Given the description of an element on the screen output the (x, y) to click on. 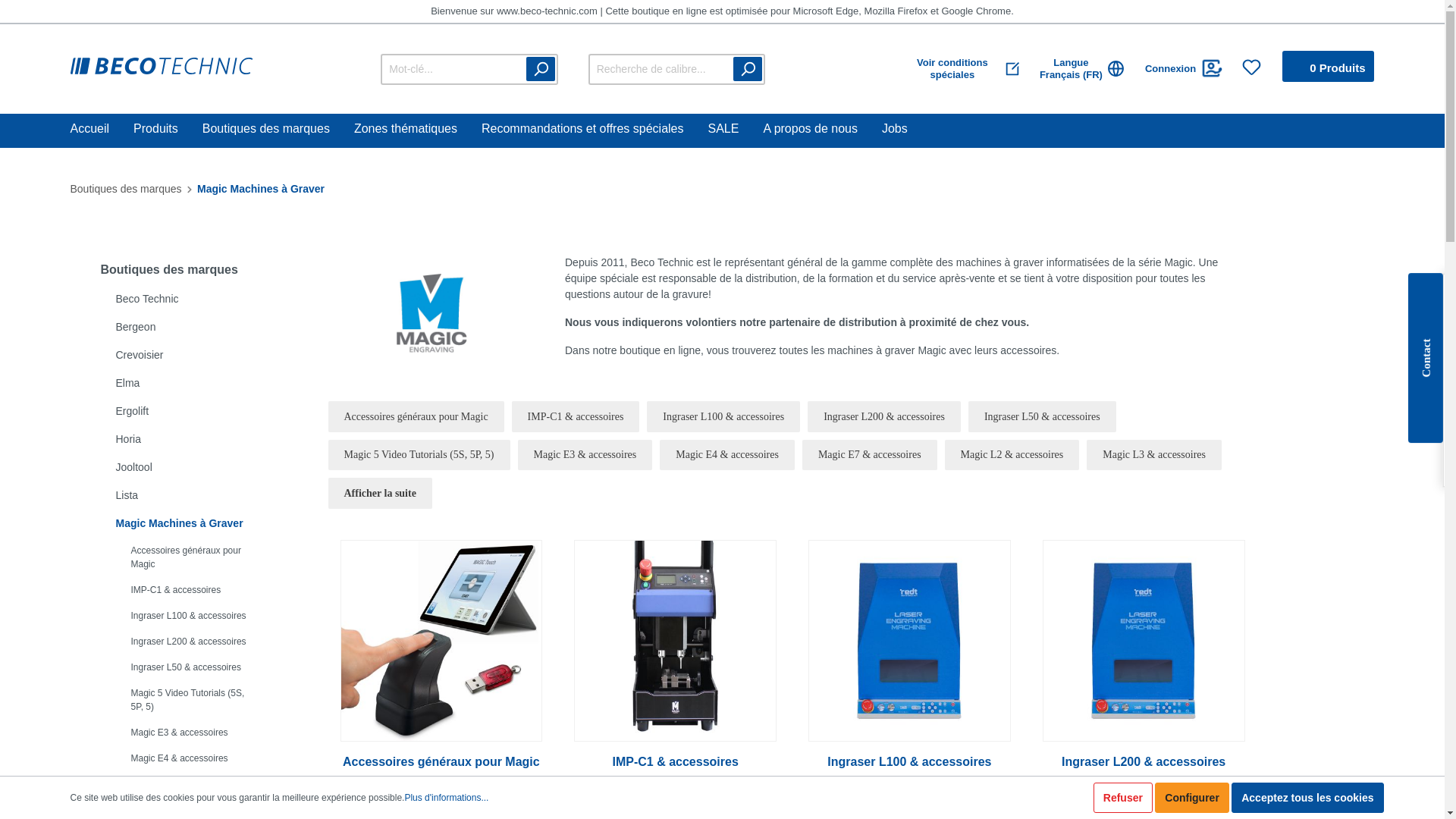
Configurer Element type: text (1191, 797)
Ingraser L100 & accessoires Element type: text (198, 615)
Boutiques des marques Element type: text (183, 269)
Ingraser L200 & accessoires Element type: text (883, 416)
Magic L2 & accessoires Element type: text (1012, 454)
Ingraser L50 & accessoires Element type: text (1042, 416)
Magic E3 & accessoires Element type: text (585, 454)
IMP-C1 & accessoires Element type: text (198, 589)
Crevoisier Element type: text (190, 355)
Plus d'informations... Element type: text (446, 797)
Jobs Element type: text (906, 130)
Lista Element type: text (190, 495)
Afficher la suite Element type: text (380, 492)
Connexion Element type: text (1183, 68)
Magic E7 & accessoires Element type: text (198, 784)
Ergolift Element type: text (190, 411)
A propos de nous Element type: text (821, 130)
Magic E3 & accessoires Element type: text (198, 732)
Boutiques des marques Element type: text (125, 188)
Ingraser L200 & accessoires Element type: text (1143, 671)
IMP-C1 & accessoires Element type: text (575, 416)
Horia Element type: text (190, 439)
Accueil Element type: text (101, 130)
Acceptez tous les cookies Element type: text (1307, 797)
Ingraser L200 & accessoires Element type: text (198, 641)
Beco Technic Element type: text (190, 299)
Elma Element type: text (190, 383)
Magic E7 & accessoires Element type: text (869, 454)
Jooltool Element type: text (190, 467)
SALE Element type: text (734, 130)
Ingraser L100 & accessoires Element type: text (909, 671)
Mes Notes Element type: hover (1251, 66)
Produits Element type: text (167, 130)
Magic 5 Video Tutorials (5S, 5P, 5) Element type: text (198, 699)
Magic L3 & accessoires Element type: text (1153, 454)
Bergeon Element type: text (190, 327)
Magic E4 & accessoires Element type: text (726, 454)
0 Produits Element type: text (1328, 65)
Ingraser L100 & accessoires Element type: text (723, 416)
Boutiques des marques Element type: text (278, 130)
Refuser Element type: text (1122, 797)
Magic 5 Video Tutorials (5S, 5P, 5) Element type: text (419, 454)
Ingraser L50 & accessoires Element type: text (198, 667)
IMP-C1 & accessoires Element type: text (675, 671)
Magic E4 & accessoires Element type: text (198, 758)
